Given the description of an element on the screen output the (x, y) to click on. 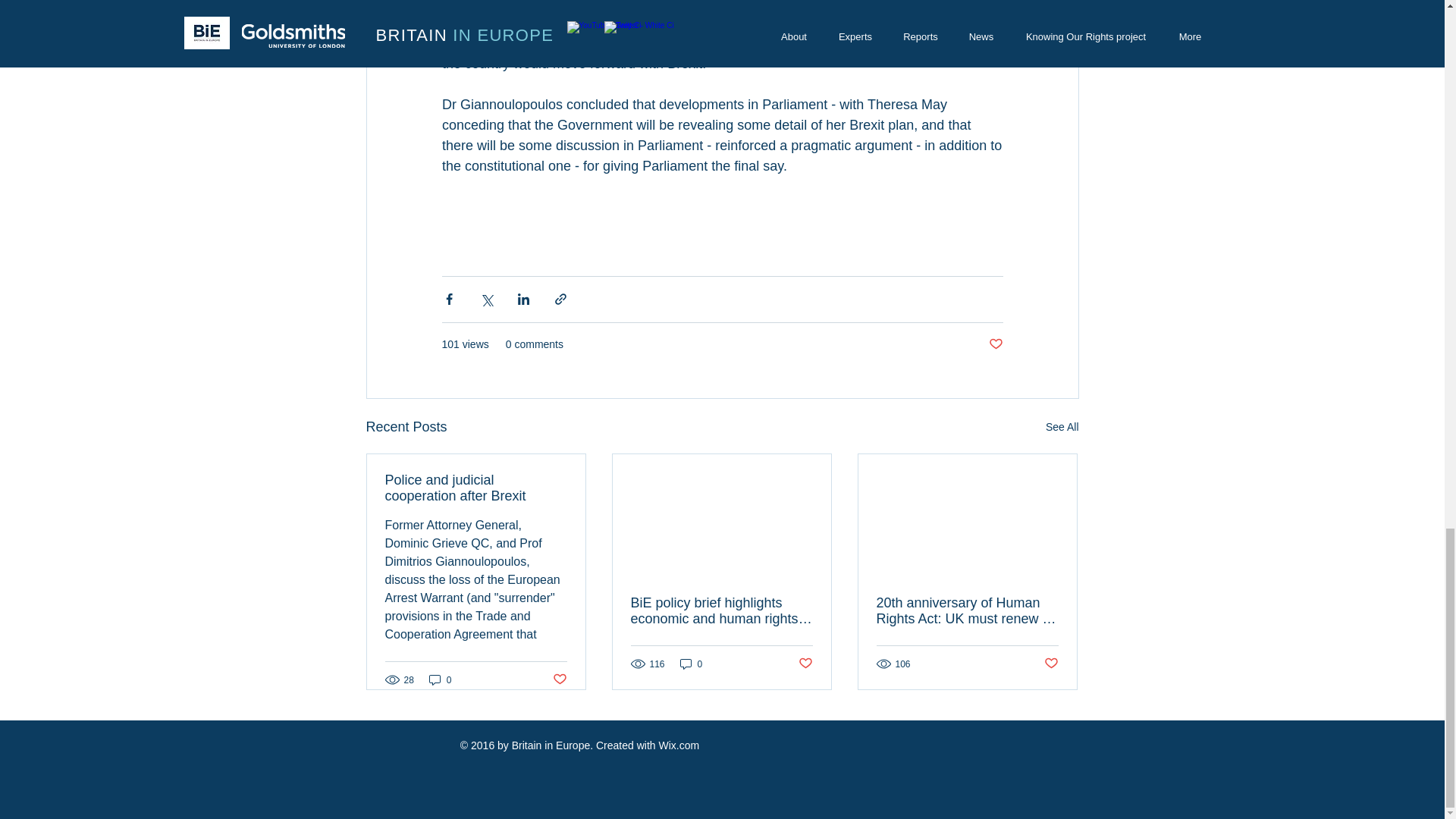
Post not marked as liked (995, 344)
Post not marked as liked (804, 663)
0 (691, 663)
Wix.com (678, 745)
Post not marked as liked (1050, 663)
Post not marked as liked (558, 679)
See All (1061, 427)
0 (440, 679)
Police and judicial cooperation after Brexit (476, 488)
